Given the description of an element on the screen output the (x, y) to click on. 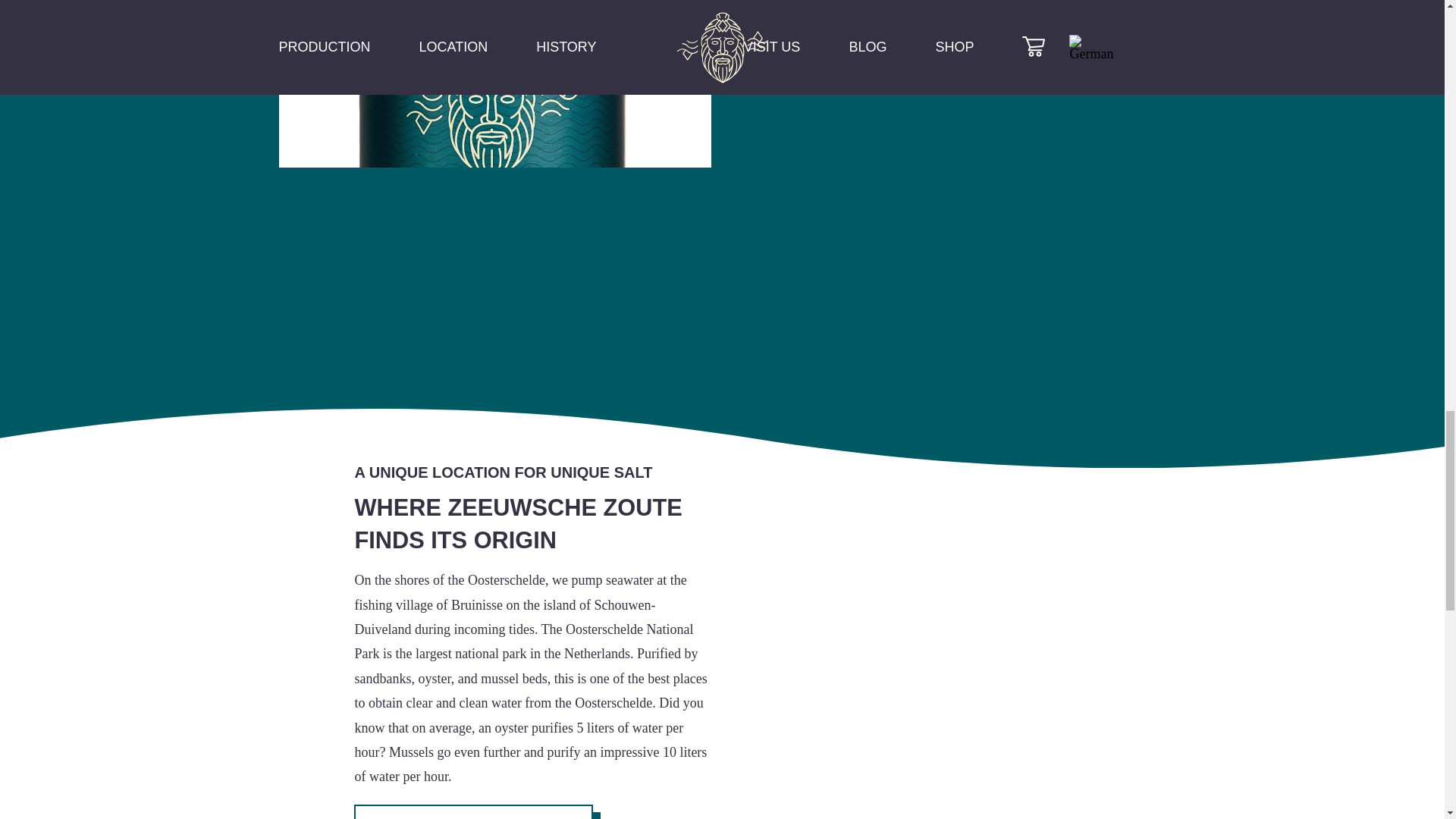
MORE ABOUT THE LOCATION (472, 811)
